Given the description of an element on the screen output the (x, y) to click on. 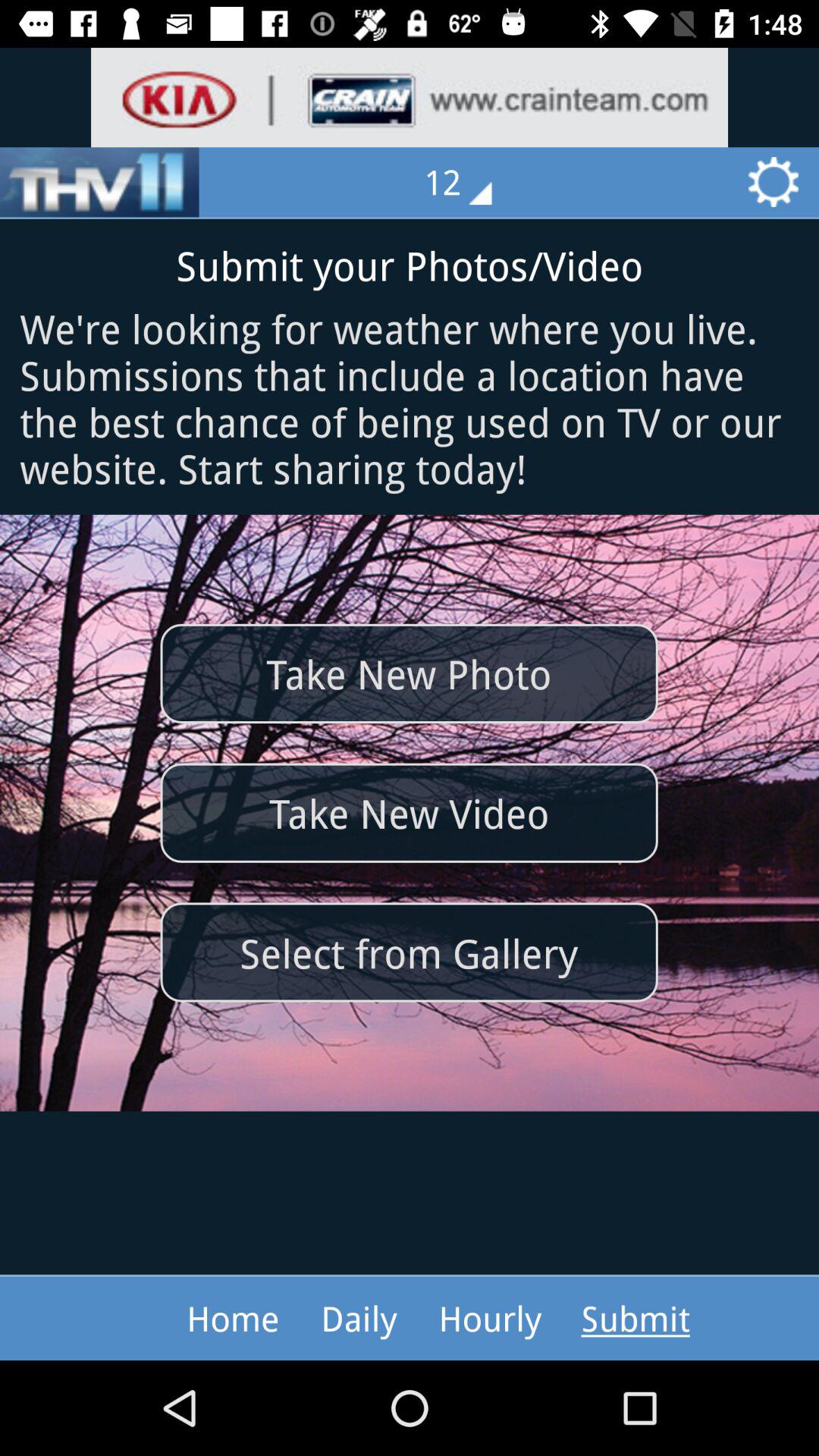
tap the item next to 12 item (99, 182)
